Given the description of an element on the screen output the (x, y) to click on. 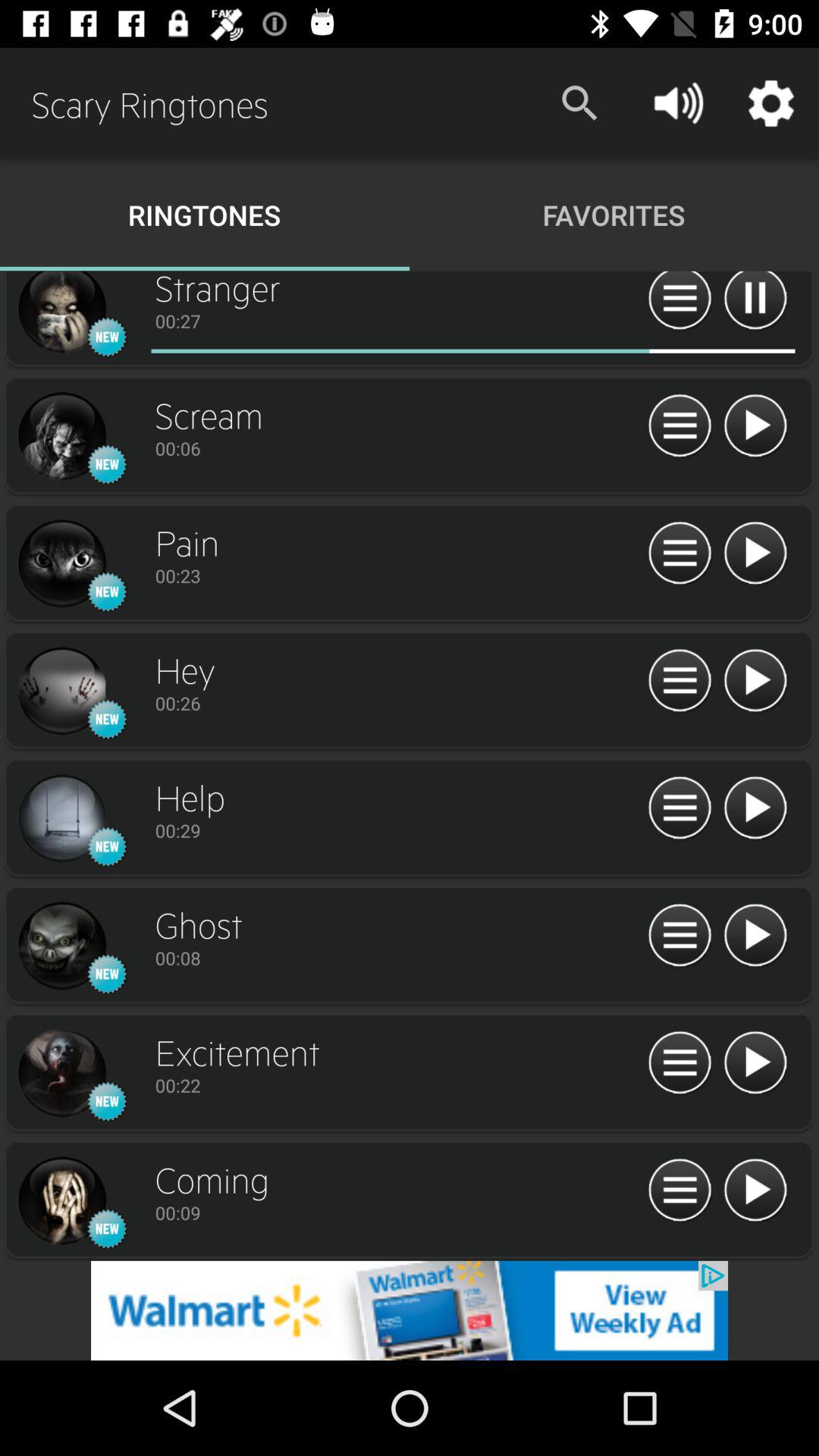
play (755, 808)
